Given the description of an element on the screen output the (x, y) to click on. 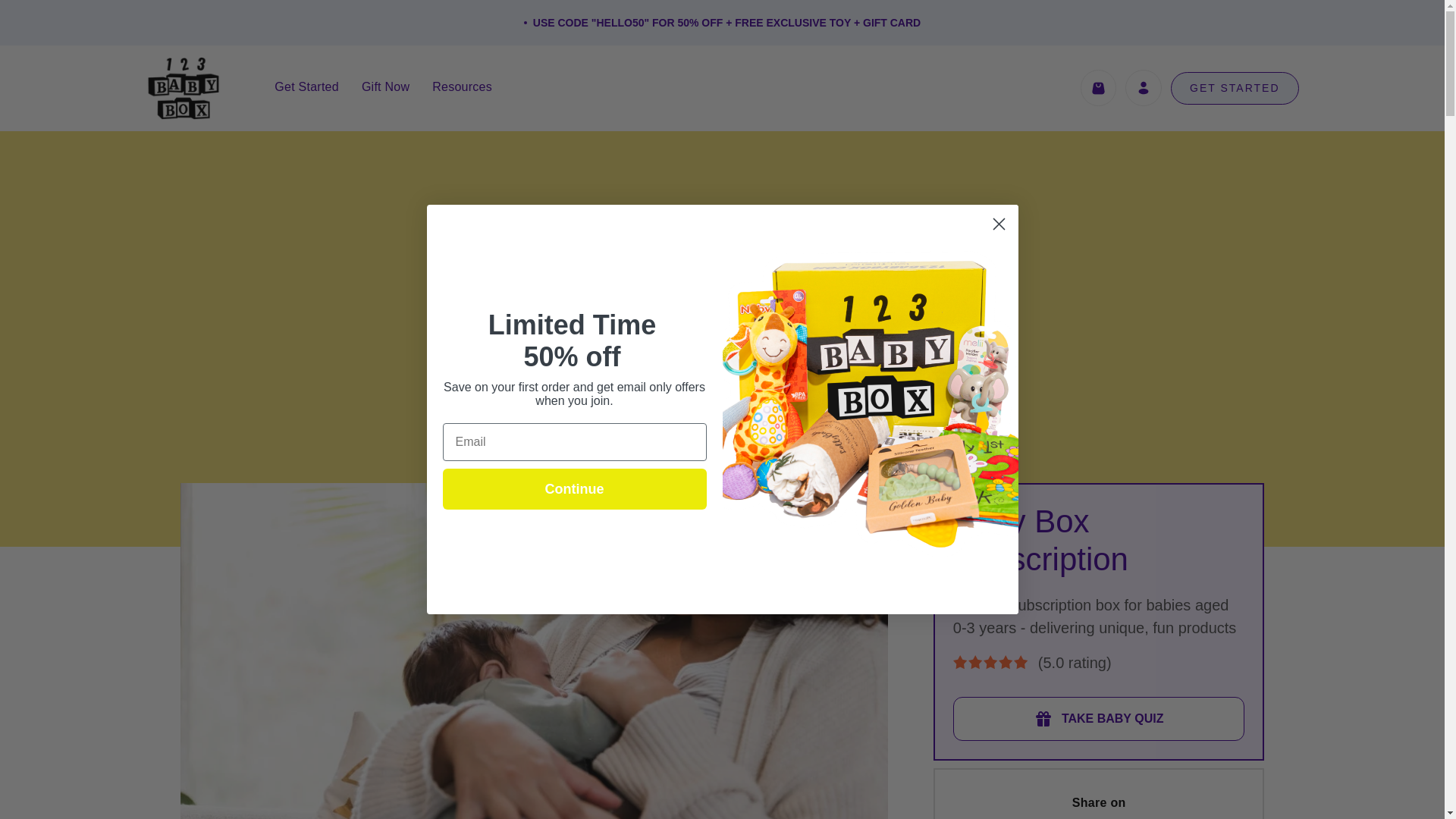
TAKE BABY QUIZ (1098, 718)
Resources (462, 86)
Gift Now (384, 86)
GET STARTED (1234, 88)
TAKE OUR BABY QUIZ (722, 383)
Get Started (306, 86)
